Given the description of an element on the screen output the (x, y) to click on. 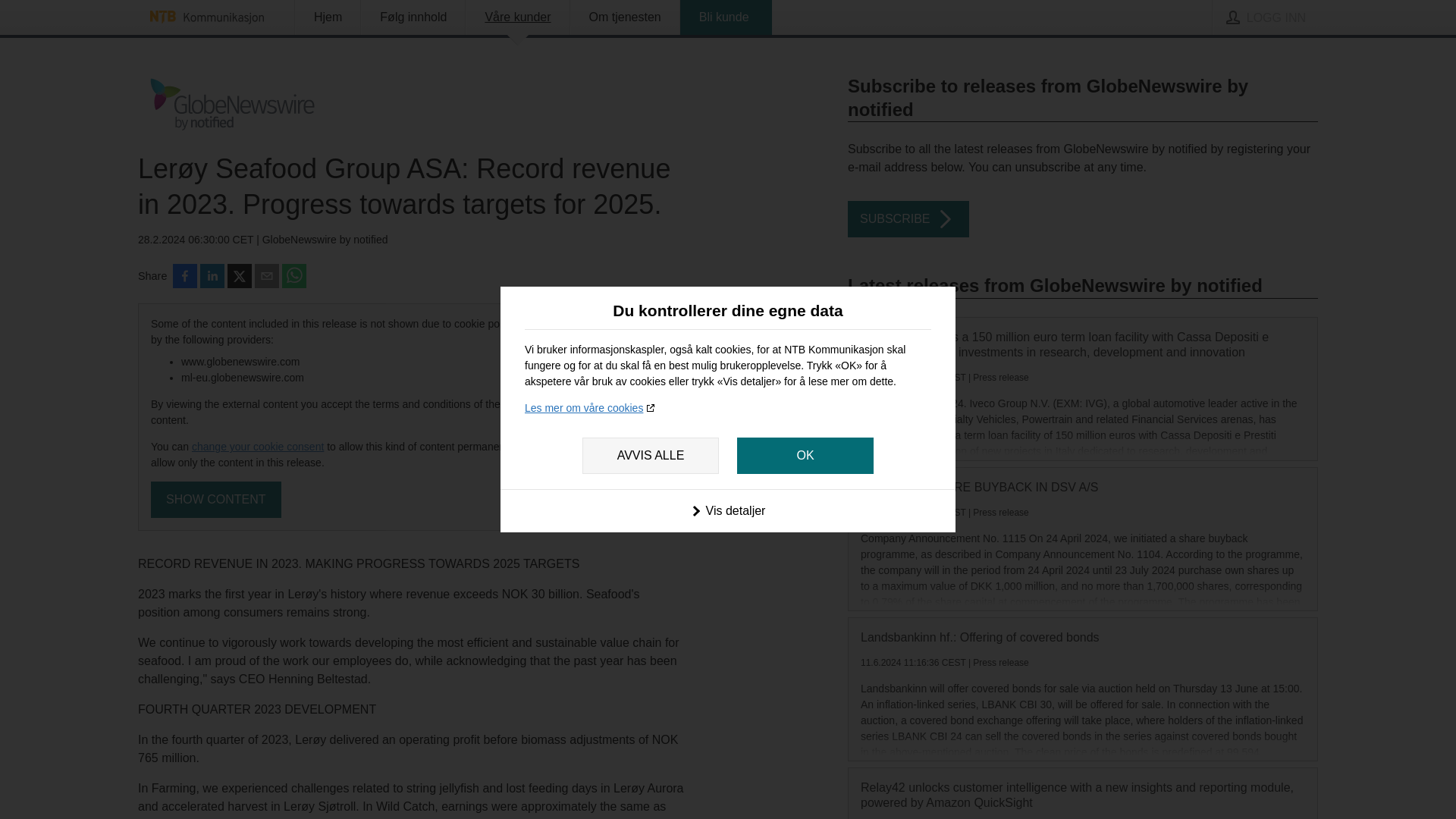
OK (804, 455)
Vis detaljer (727, 510)
AVVIS ALLE (650, 455)
